Given the description of an element on the screen output the (x, y) to click on. 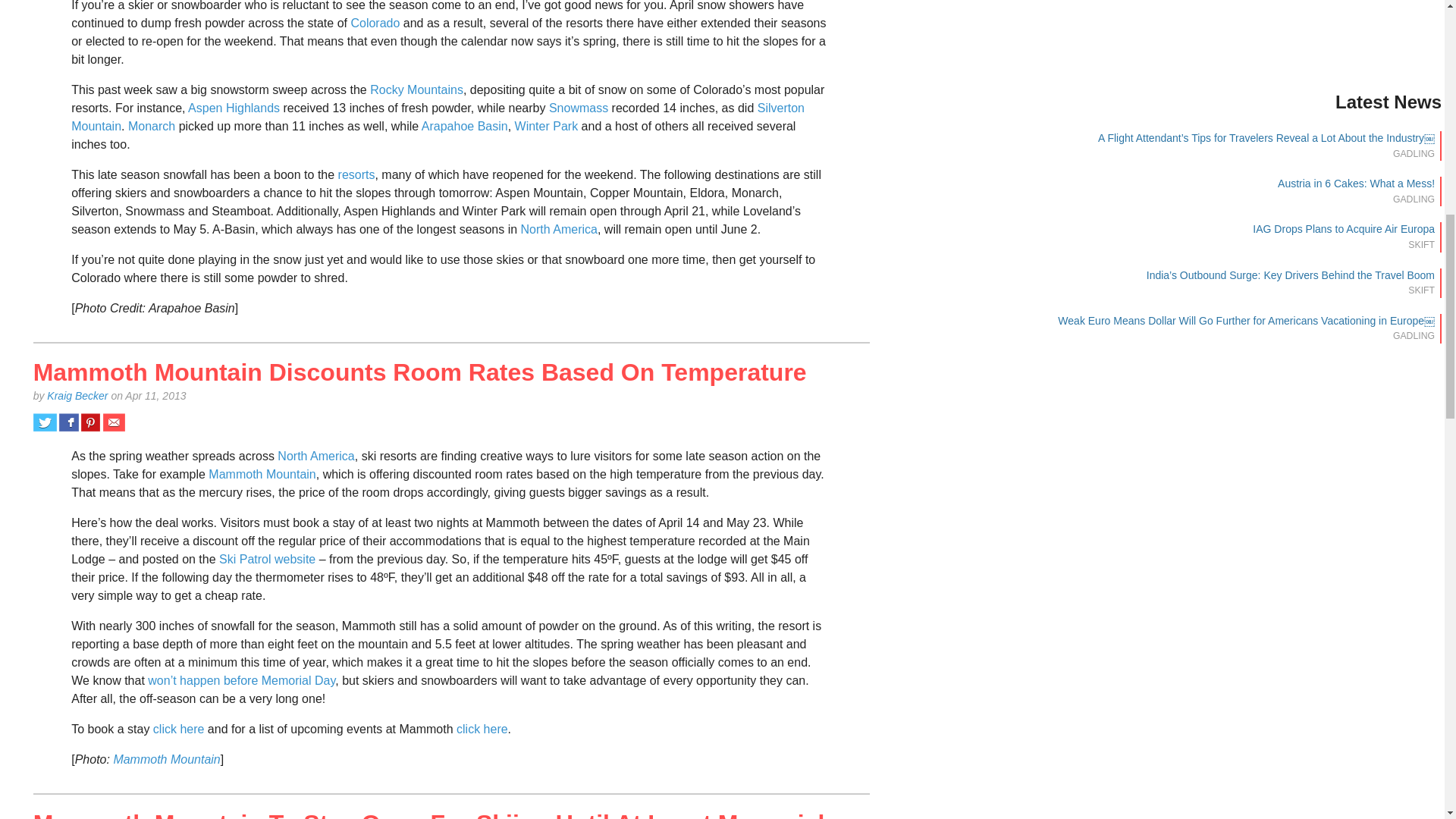
Share via email (114, 422)
Share on Pinterest (90, 422)
Share on Facebook (68, 422)
Share on Twitter (44, 422)
Mammoth Mountain Discounts Room Rates Based On Temperature (419, 371)
